Given the description of an element on the screen output the (x, y) to click on. 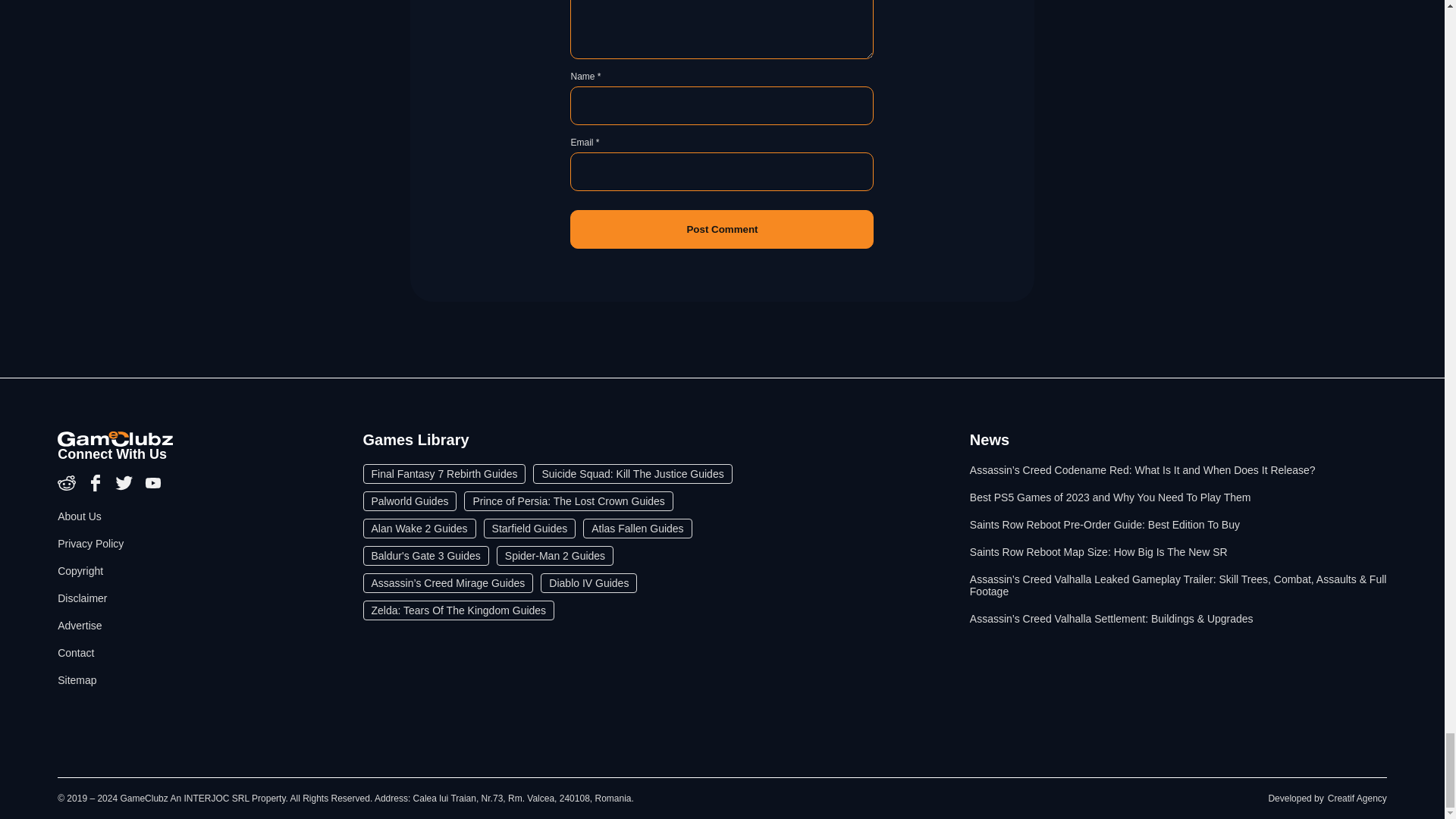
Creatif Agency web design (1357, 798)
Post Comment (721, 228)
twitter (125, 488)
facebook (96, 488)
instagram (68, 488)
youtube (152, 488)
